Given the description of an element on the screen output the (x, y) to click on. 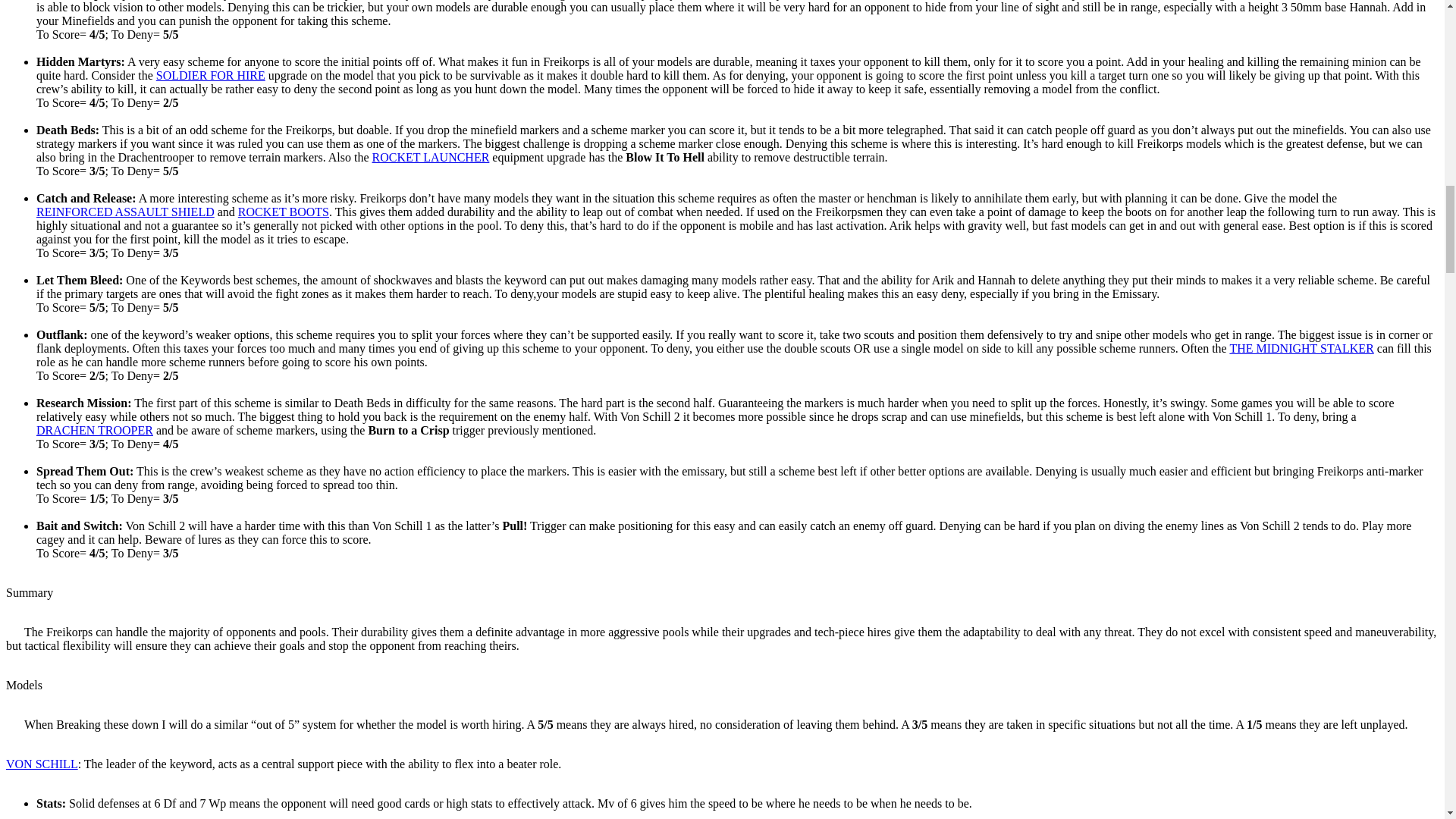
SOLDIER FOR HIRE (209, 74)
ROCKET BOOTS (283, 211)
DRACHEN TROOPER (94, 430)
VON SCHILL (41, 763)
REINFORCED ASSAULT SHIELD (125, 211)
ROCKET LAUNCHER (430, 156)
THE MIDNIGHT STALKER (1300, 348)
